Given the description of an element on the screen output the (x, y) to click on. 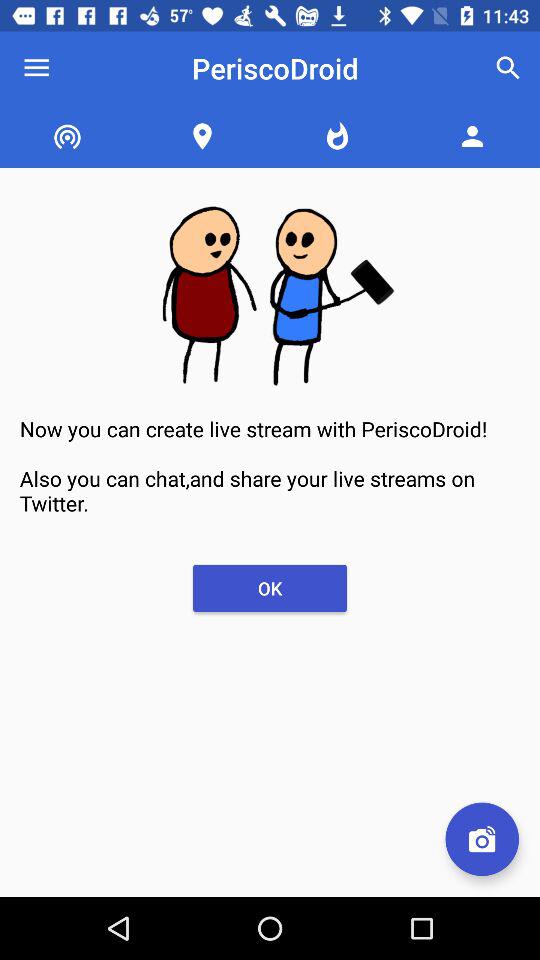
start your livestream (482, 839)
